Given the description of an element on the screen output the (x, y) to click on. 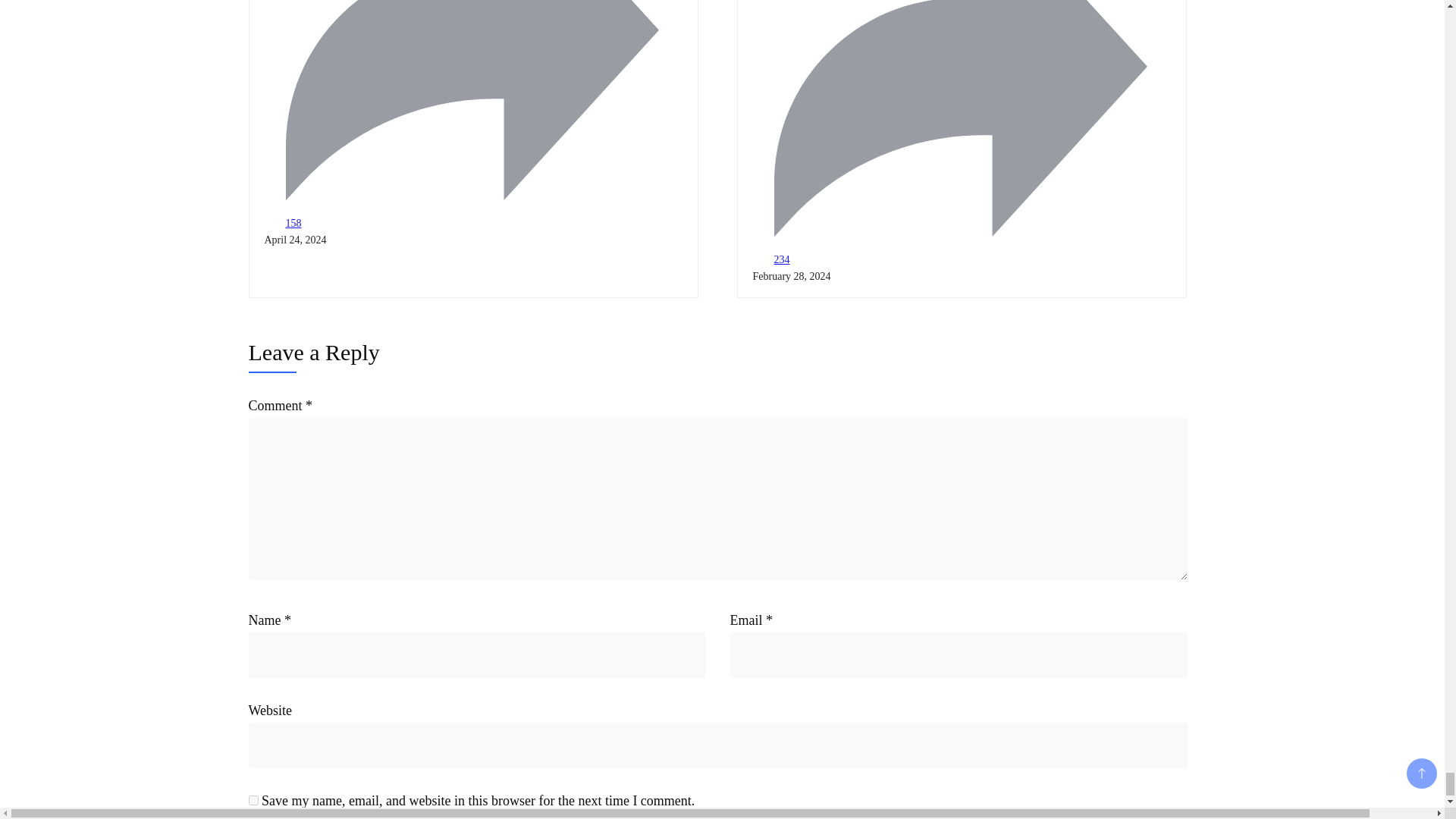
yes (253, 800)
